Given the description of an element on the screen output the (x, y) to click on. 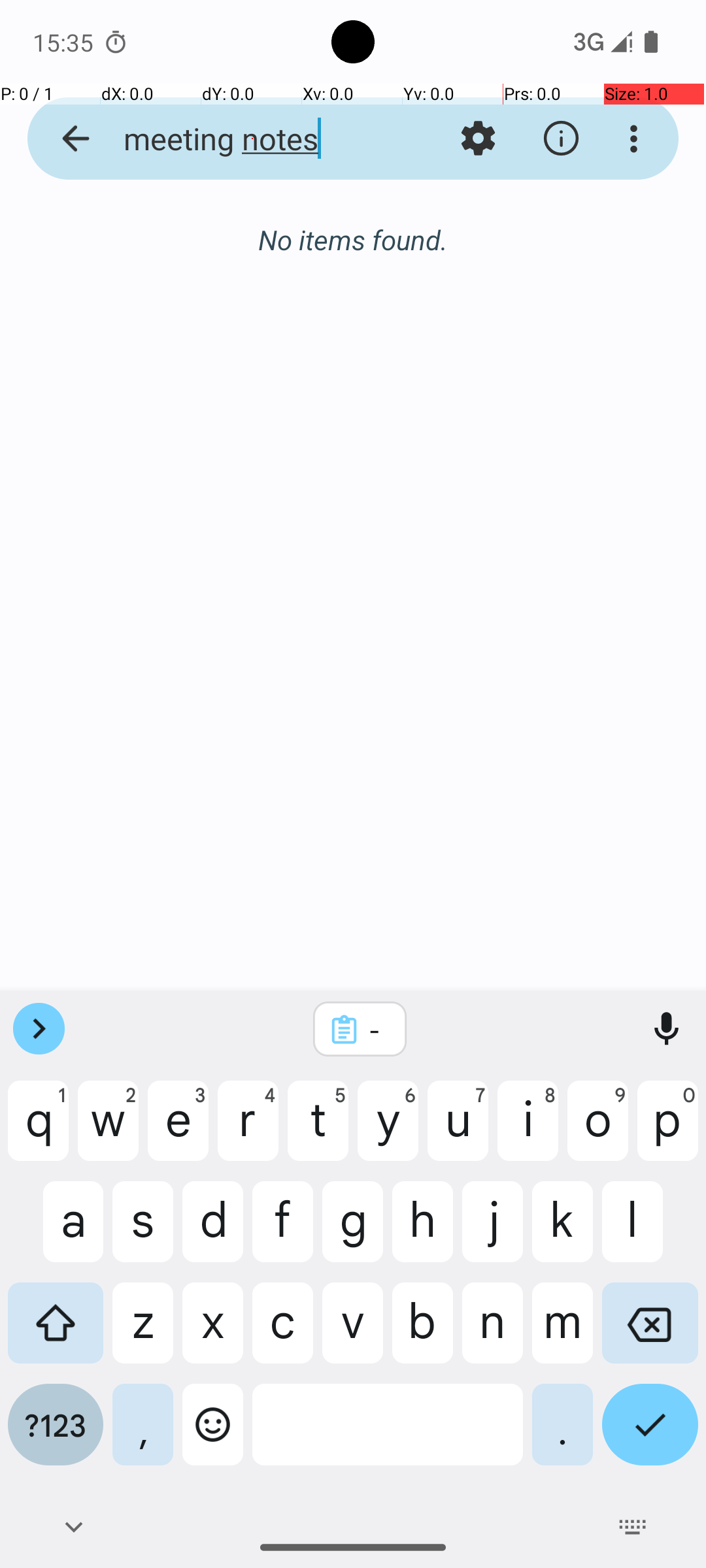
meeting notes Element type: android.widget.EditText (252, 138)
David Zhang Element type: android.widget.TextView (408, 242)
